Given the description of an element on the screen output the (x, y) to click on. 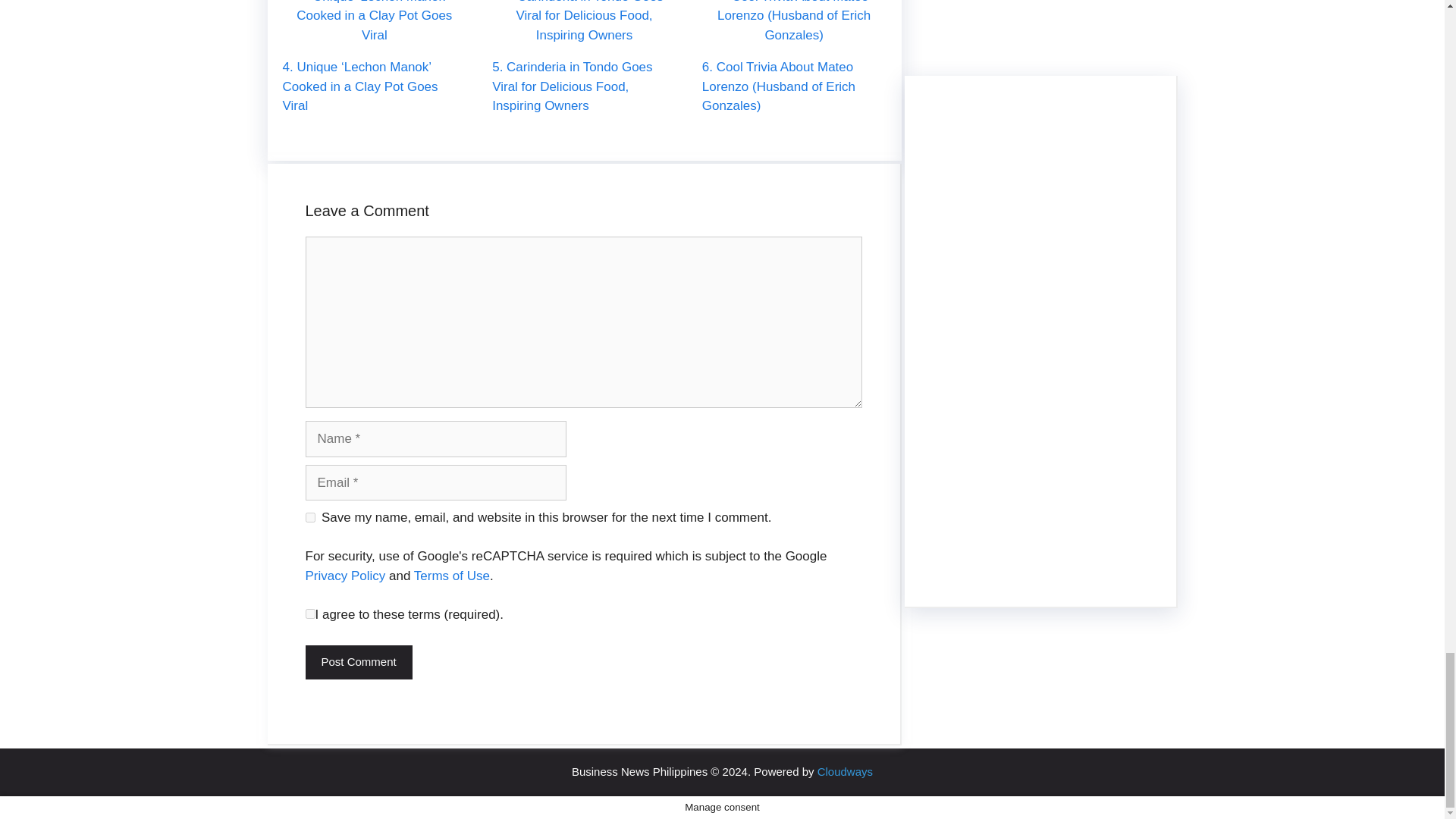
Post Comment (358, 662)
yes (309, 517)
on (309, 614)
